Given the description of an element on the screen output the (x, y) to click on. 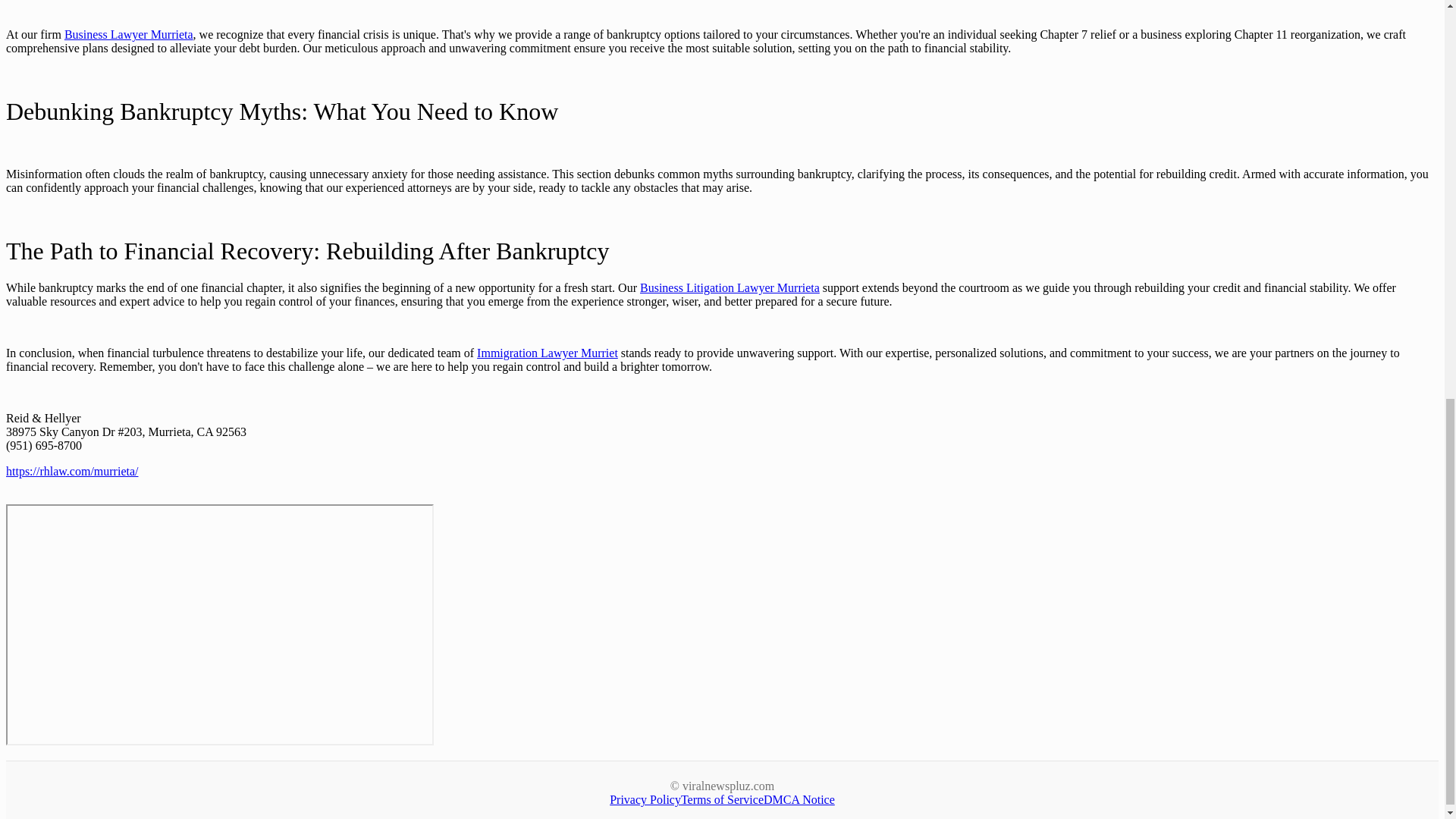
Immigration Lawyer Murriet (547, 352)
Privacy Policy (645, 799)
DMCA Notice (798, 799)
Business Litigation Lawyer Murrieta (729, 287)
Terms of Service (721, 799)
Business Lawyer Murrieta (128, 33)
